Given the description of an element on the screen output the (x, y) to click on. 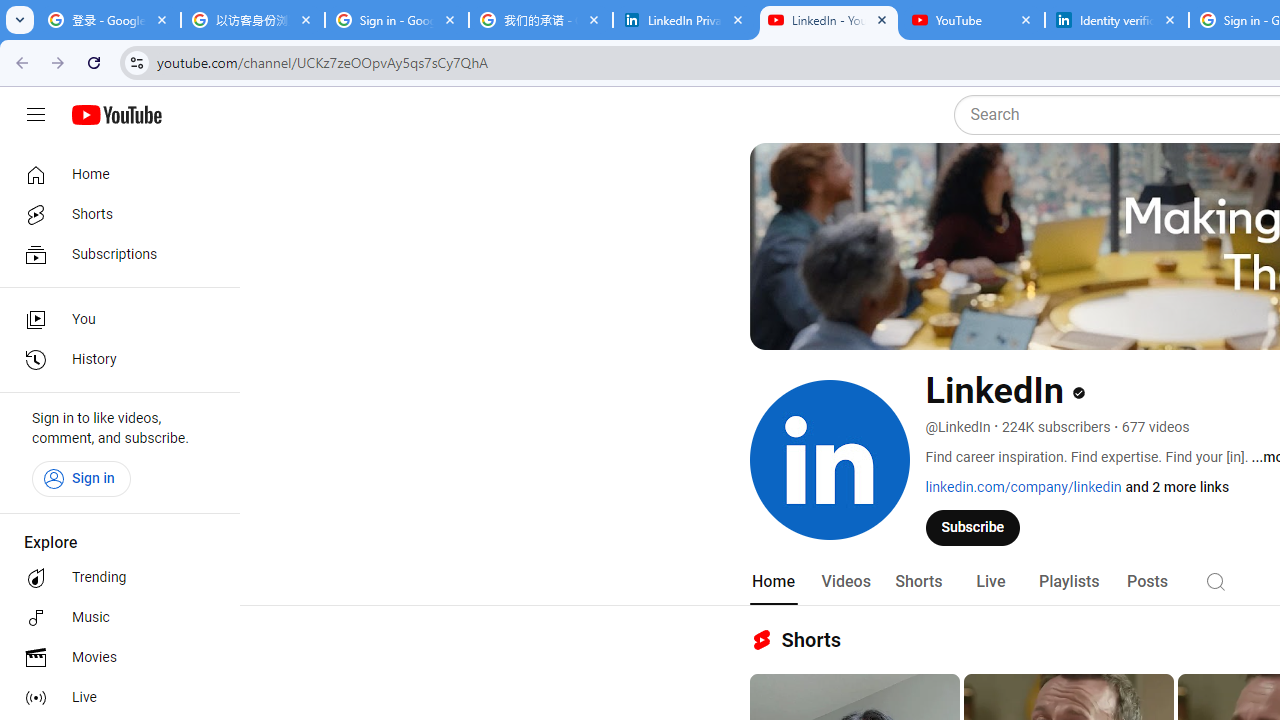
Playlists (1068, 581)
LinkedIn - YouTube (828, 20)
History (113, 359)
Close (1169, 19)
Shorts (113, 214)
Guide (35, 115)
and 2 more links (1177, 487)
